Given the description of an element on the screen output the (x, y) to click on. 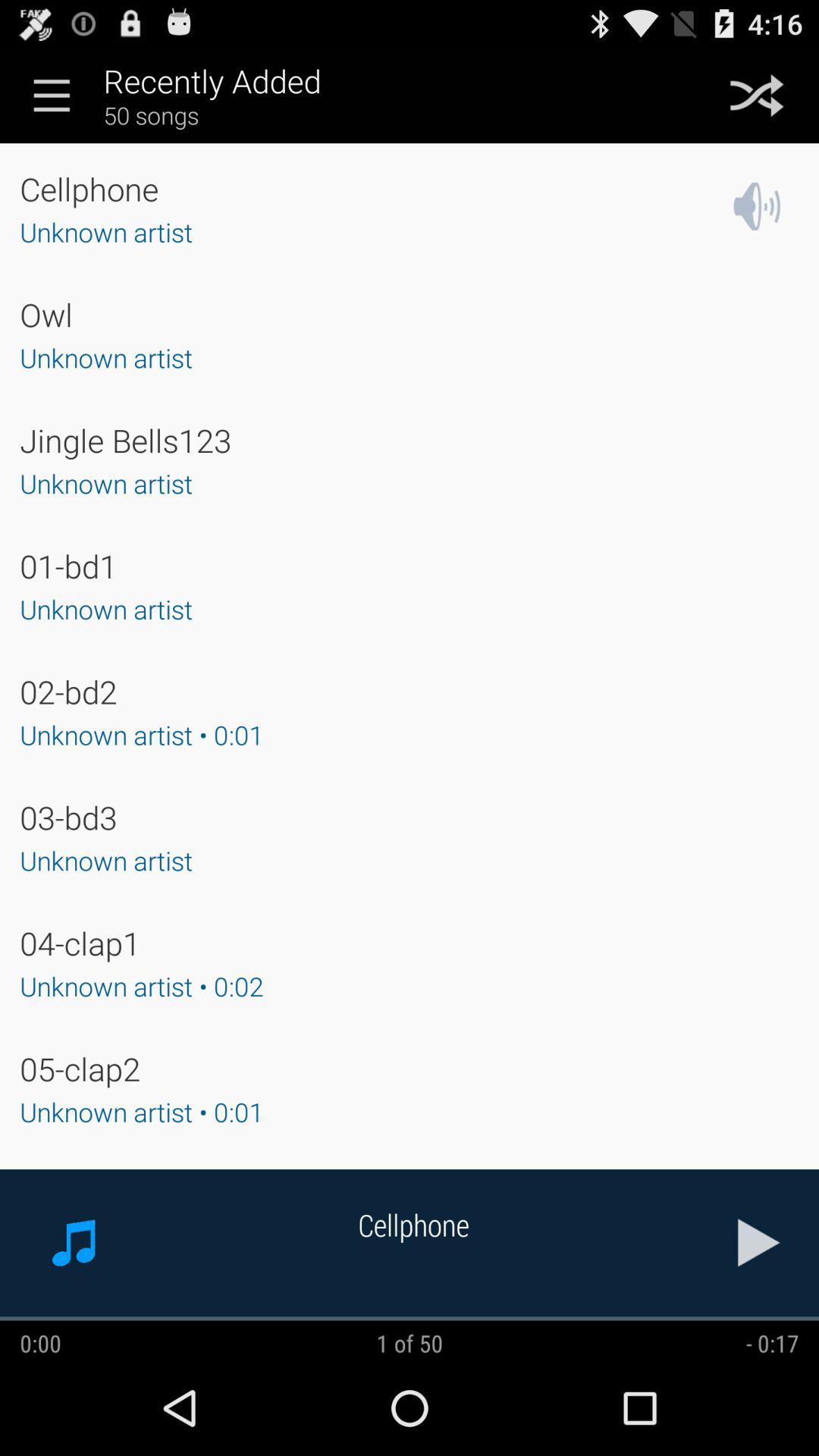
open the 04-clap1 item (79, 942)
